Given the description of an element on the screen output the (x, y) to click on. 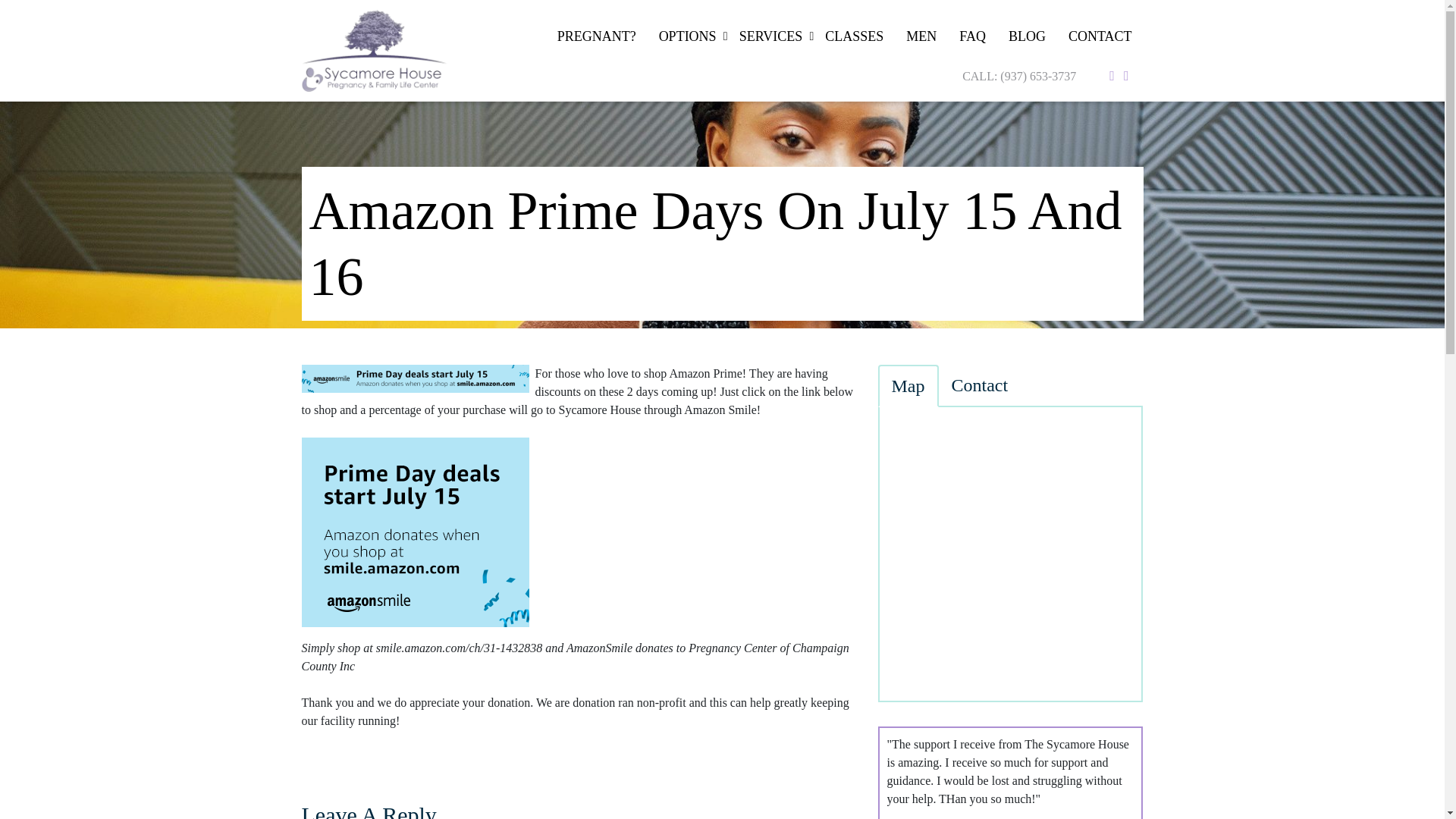
Blog (1027, 32)
Contact (1099, 32)
CLASSES (854, 32)
Men (921, 32)
Map (908, 385)
MEN (921, 32)
Services (770, 32)
OPTIONS (687, 32)
Options (687, 32)
Classes (854, 32)
